Given the description of an element on the screen output the (x, y) to click on. 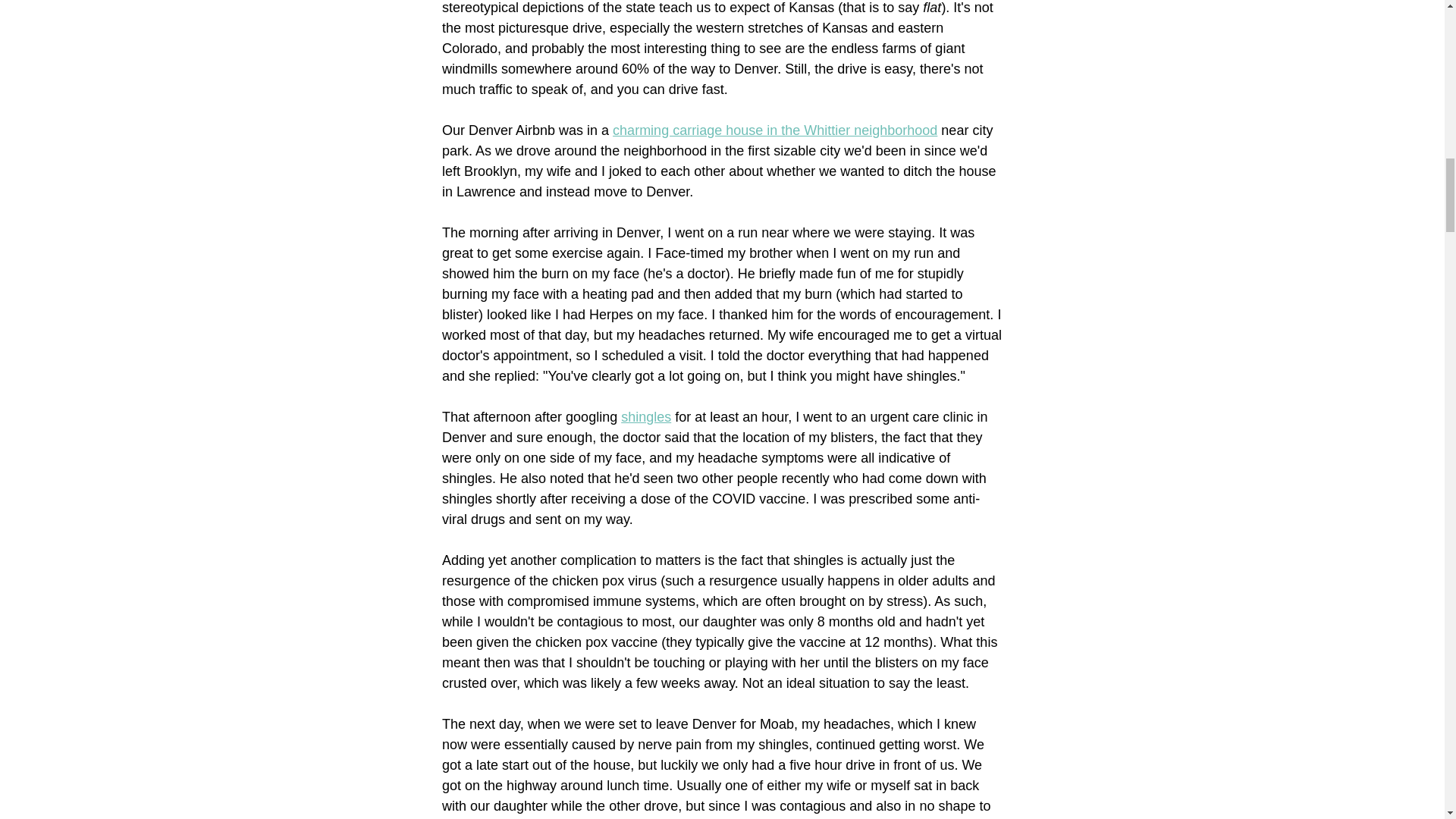
charming carriage house in the Whittier neighborhood (774, 130)
shingles (646, 417)
